Given the description of an element on the screen output the (x, y) to click on. 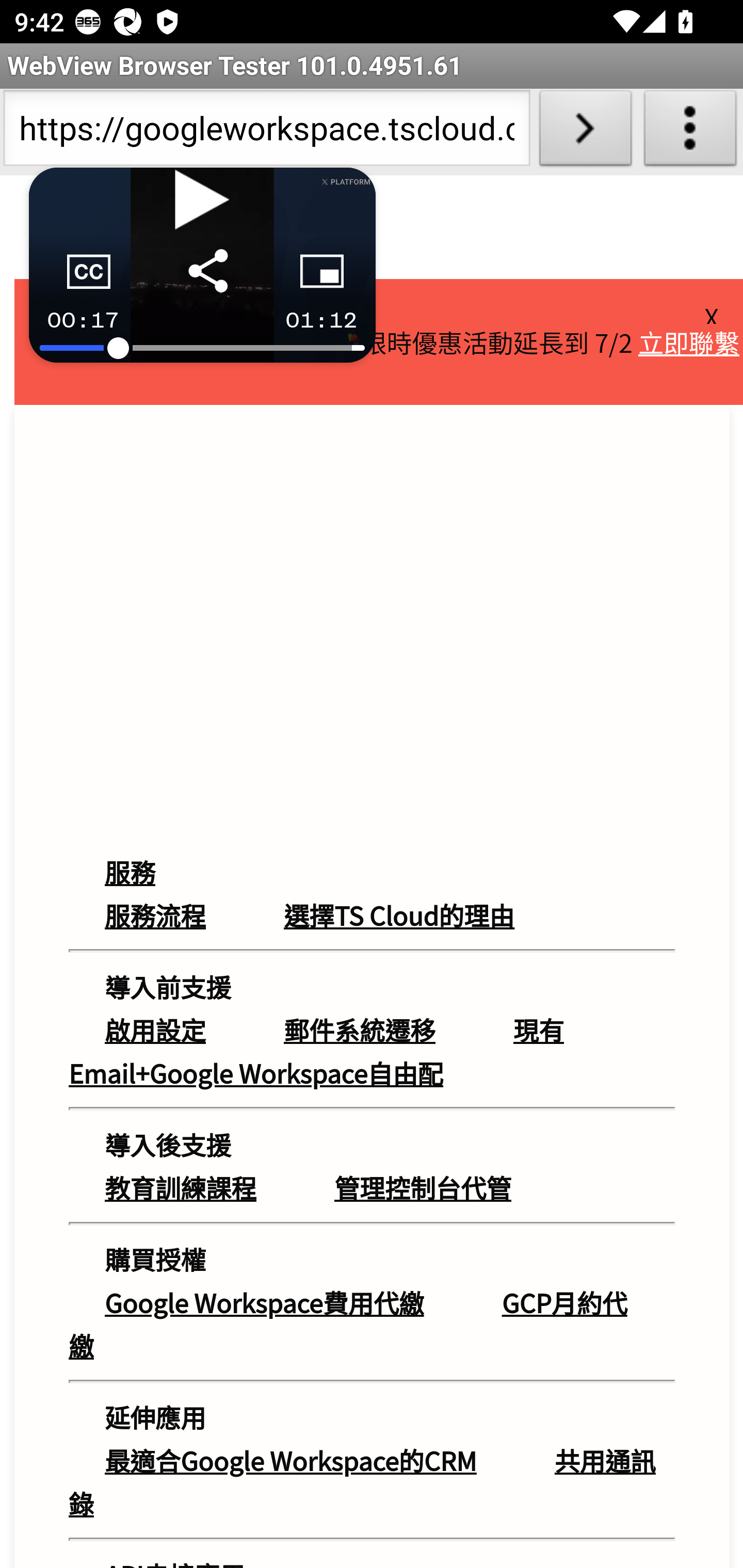
Load URL (585, 132)
About WebView (690, 132)
立即聯繫 (688, 341)
服務 (150, 871)
服務流程 (155, 914)
選擇TS Cloud的理由 (399, 914)
啟用設定 (155, 1029)
現有Email+Google Workspace自由配 (316, 1051)
郵件系統遷移 (360, 1029)
教育訓練課程 (181, 1187)
管理控制台代管 (423, 1187)
Google Workspace費用代繳 (263, 1302)
GCP月約代繳 (348, 1324)
最適合Google Workspace的CRM (290, 1460)
共用通訊錄 (362, 1481)
